Given the description of an element on the screen output the (x, y) to click on. 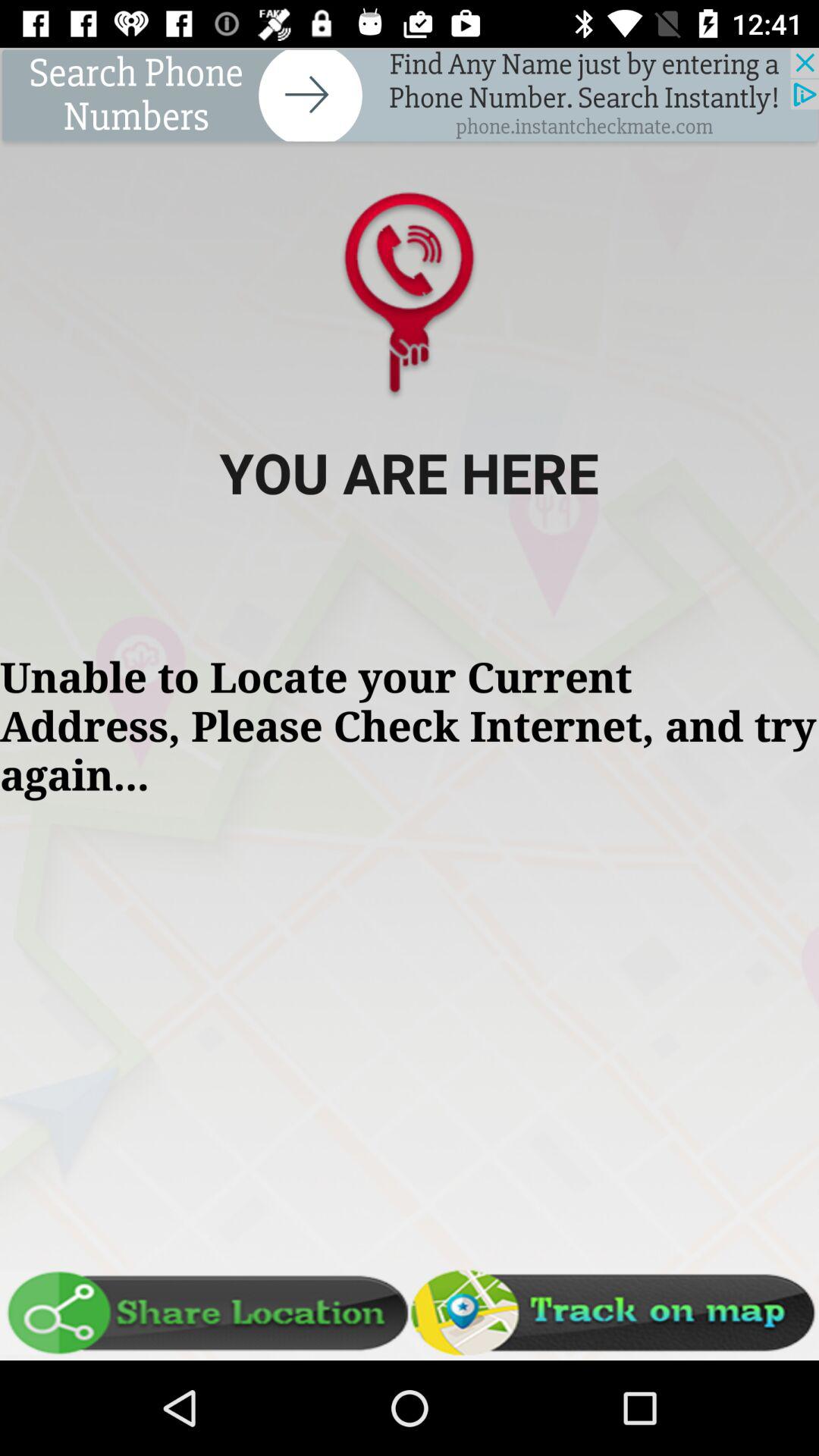
banner advertisement (409, 97)
